Given the description of an element on the screen output the (x, y) to click on. 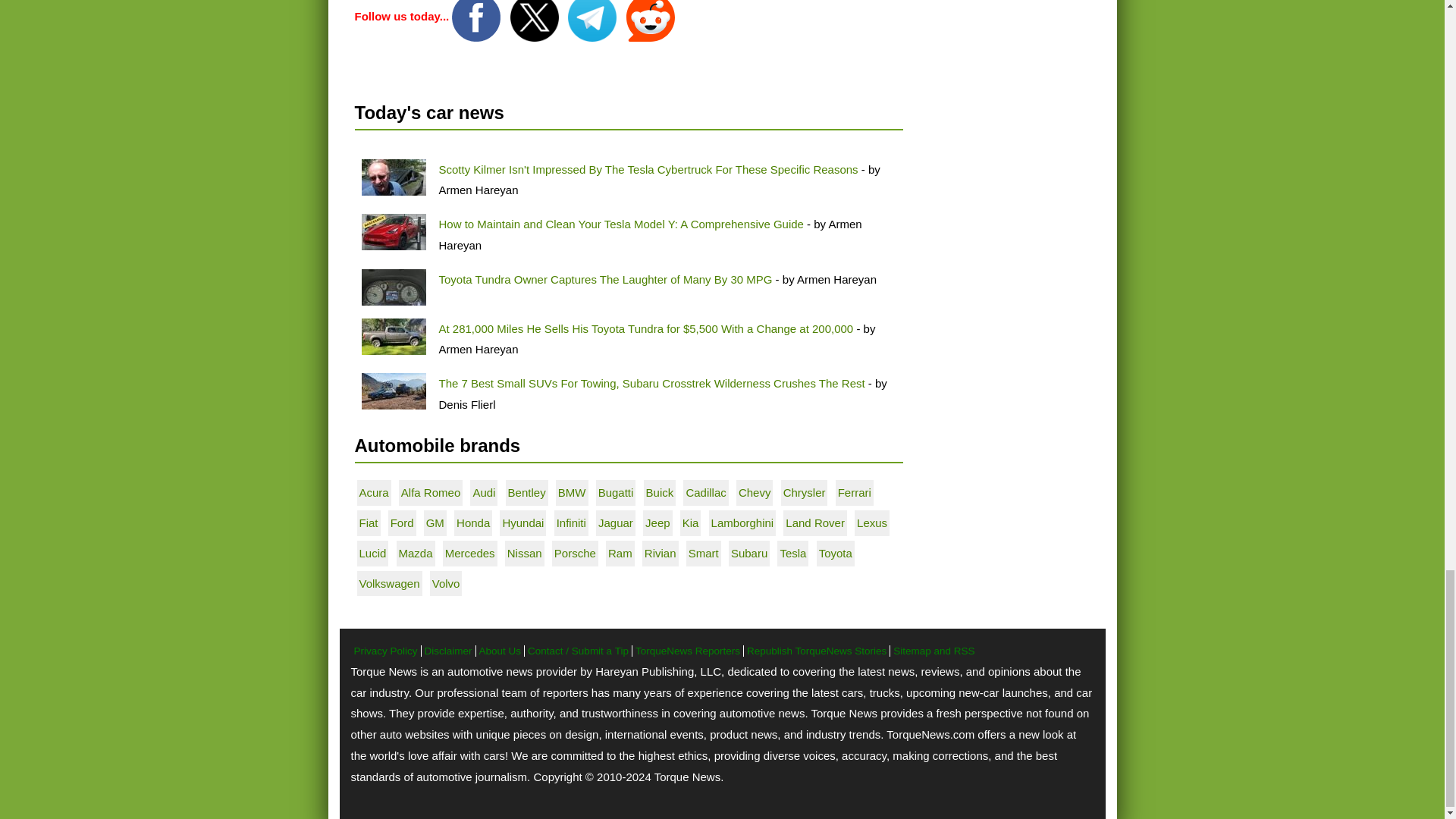
Acura (373, 492)
Bentley (527, 492)
Bugatti (615, 492)
Join us on Reddit! (650, 15)
Toyota Tundra Owner Captures The Laughter of Many By 30 MPG (393, 287)
Alfa Romeo (430, 492)
